Given the description of an element on the screen output the (x, y) to click on. 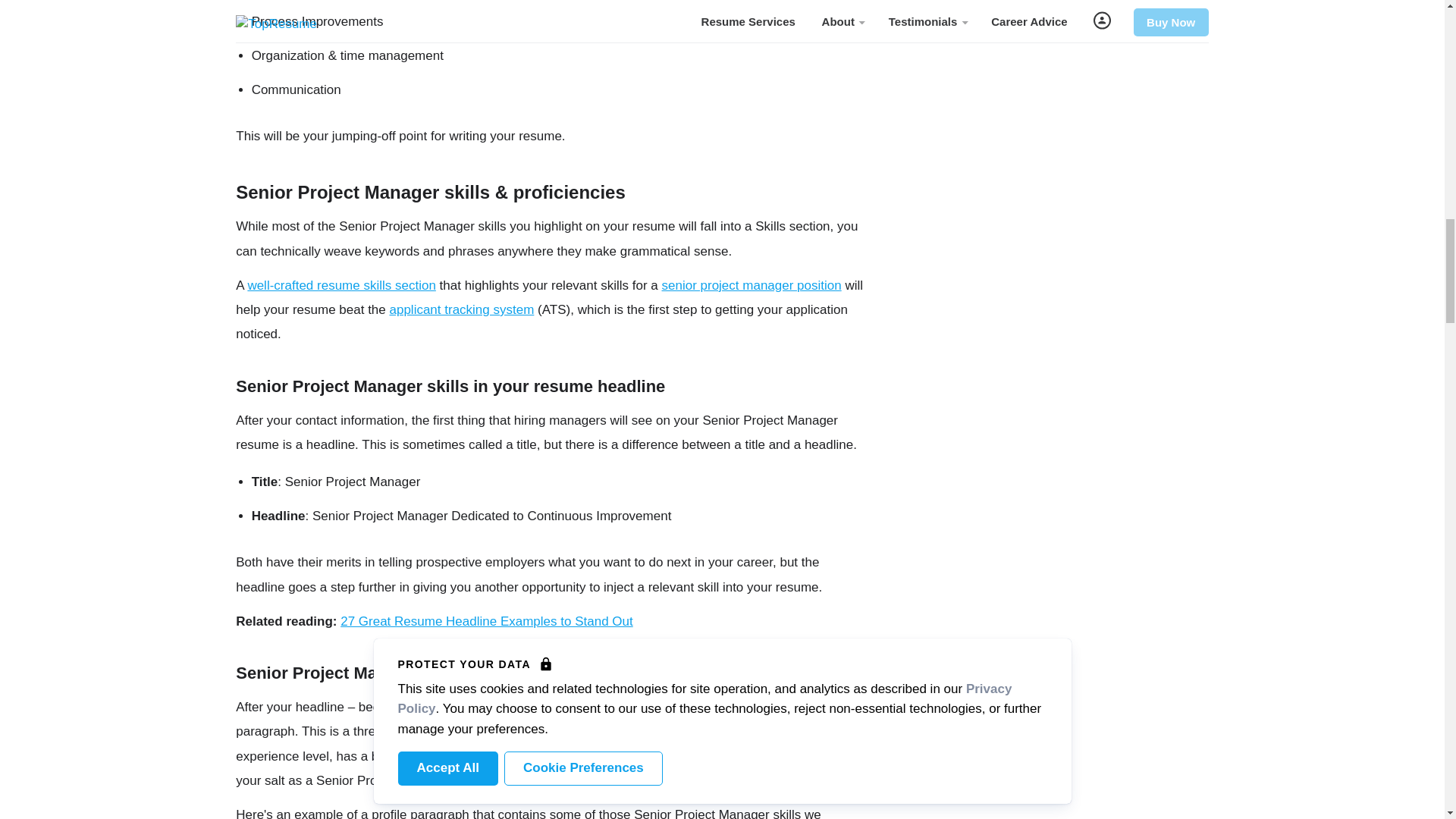
27 Great Resume Headline Examples to Stand Out (486, 621)
senior project manager position (751, 285)
well-crafted resume skills section (341, 285)
applicant tracking system (461, 309)
